Given the description of an element on the screen output the (x, y) to click on. 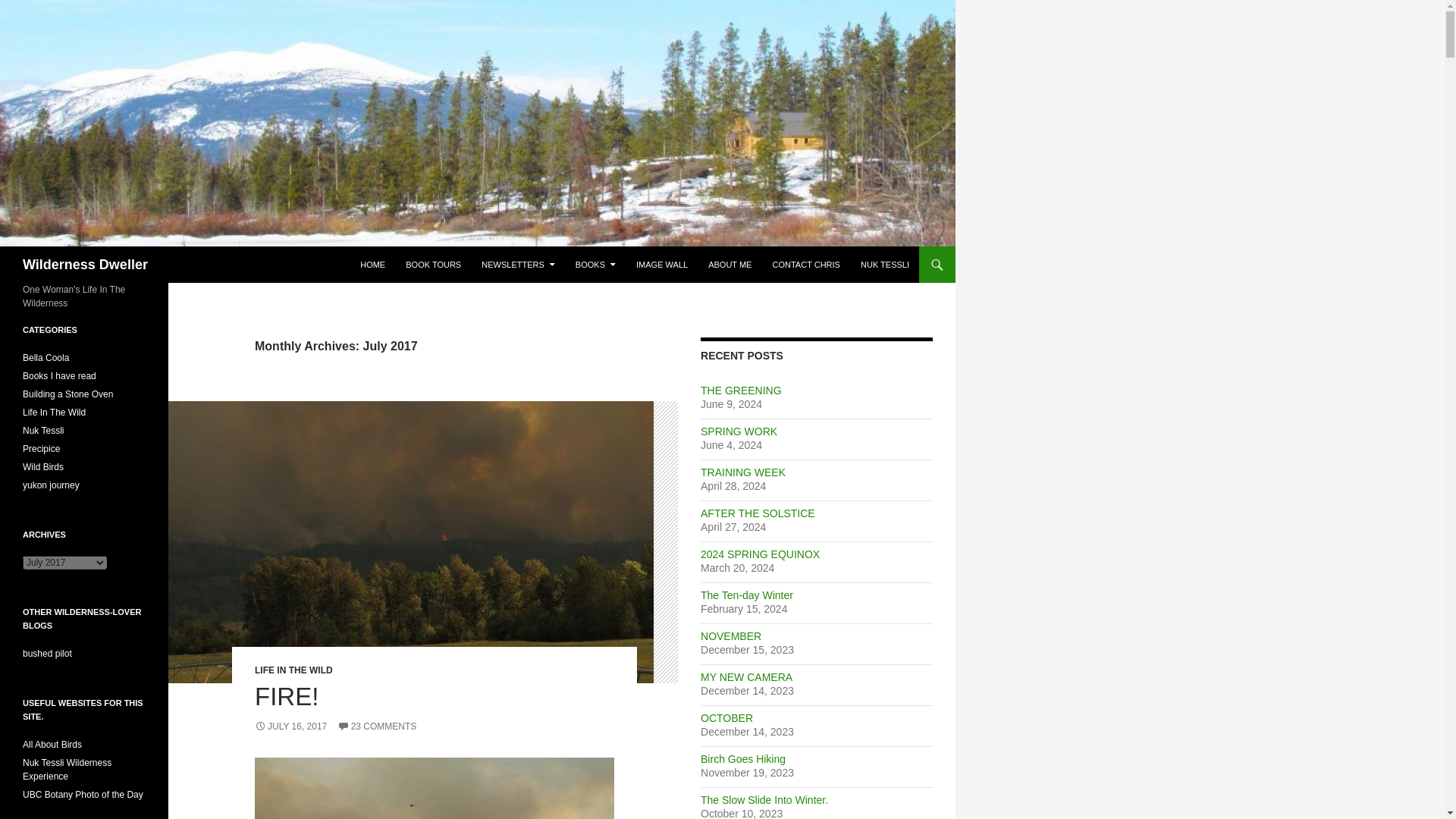
ABOUT ME (729, 264)
IMAGE WALL (662, 264)
CONTACT CHRIS (805, 264)
NEWSLETTERS (517, 264)
BOOK TOURS (433, 264)
NUK TESSLI (884, 264)
HOME (372, 264)
BOOKS (595, 264)
My home for 23 years, now sold. (67, 769)
Wilderness Dweller (85, 264)
Off road dweller on Great Slave Lake (47, 653)
